Given the description of an element on the screen output the (x, y) to click on. 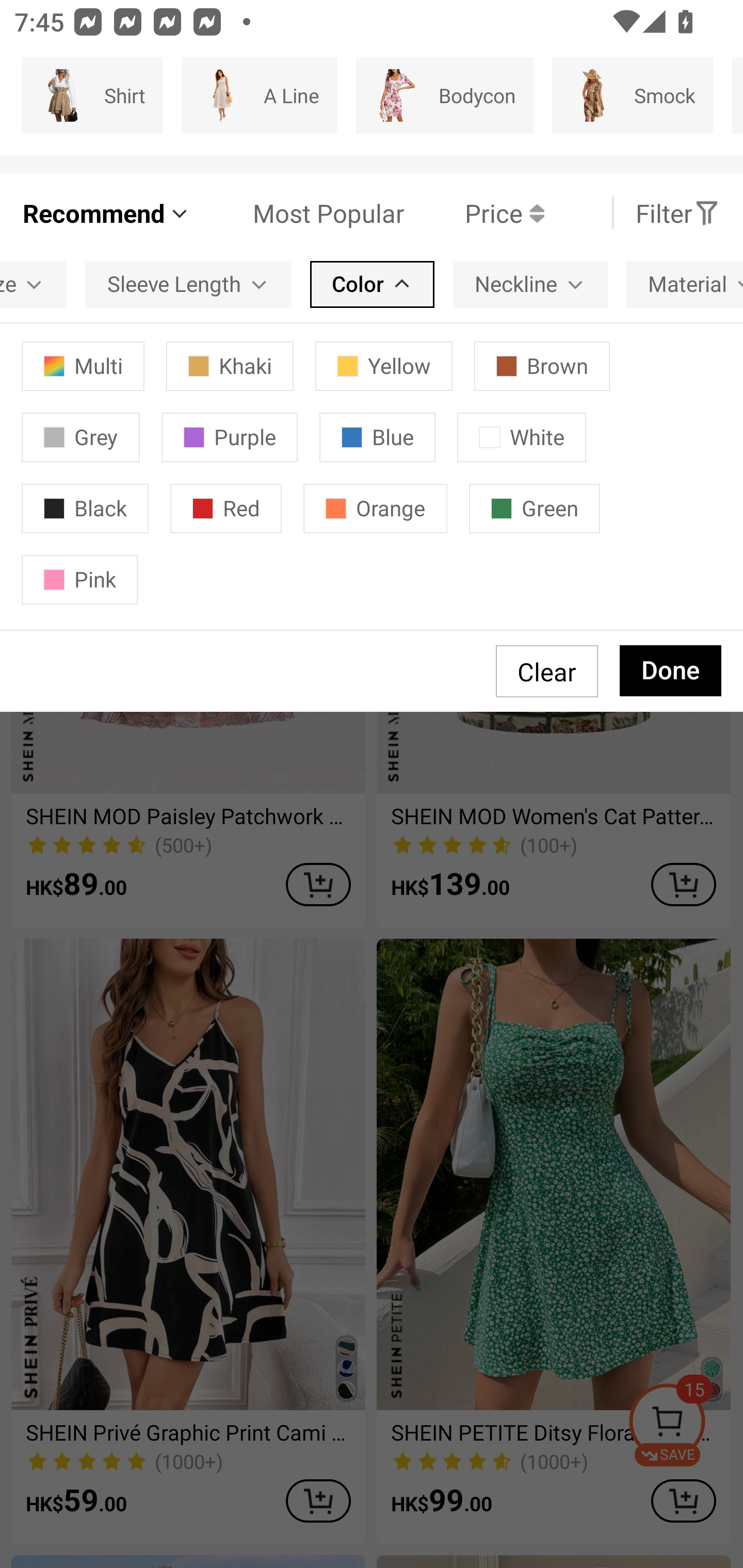
Shirt (91, 95)
A Line (259, 95)
Bodycon (444, 95)
Smock (632, 95)
Recommend (106, 213)
Most Popular (297, 213)
Price (474, 213)
Filter (677, 213)
Sleeve Length (188, 283)
Color (371, 283)
Neckline (530, 283)
Material (684, 283)
